Given the description of an element on the screen output the (x, y) to click on. 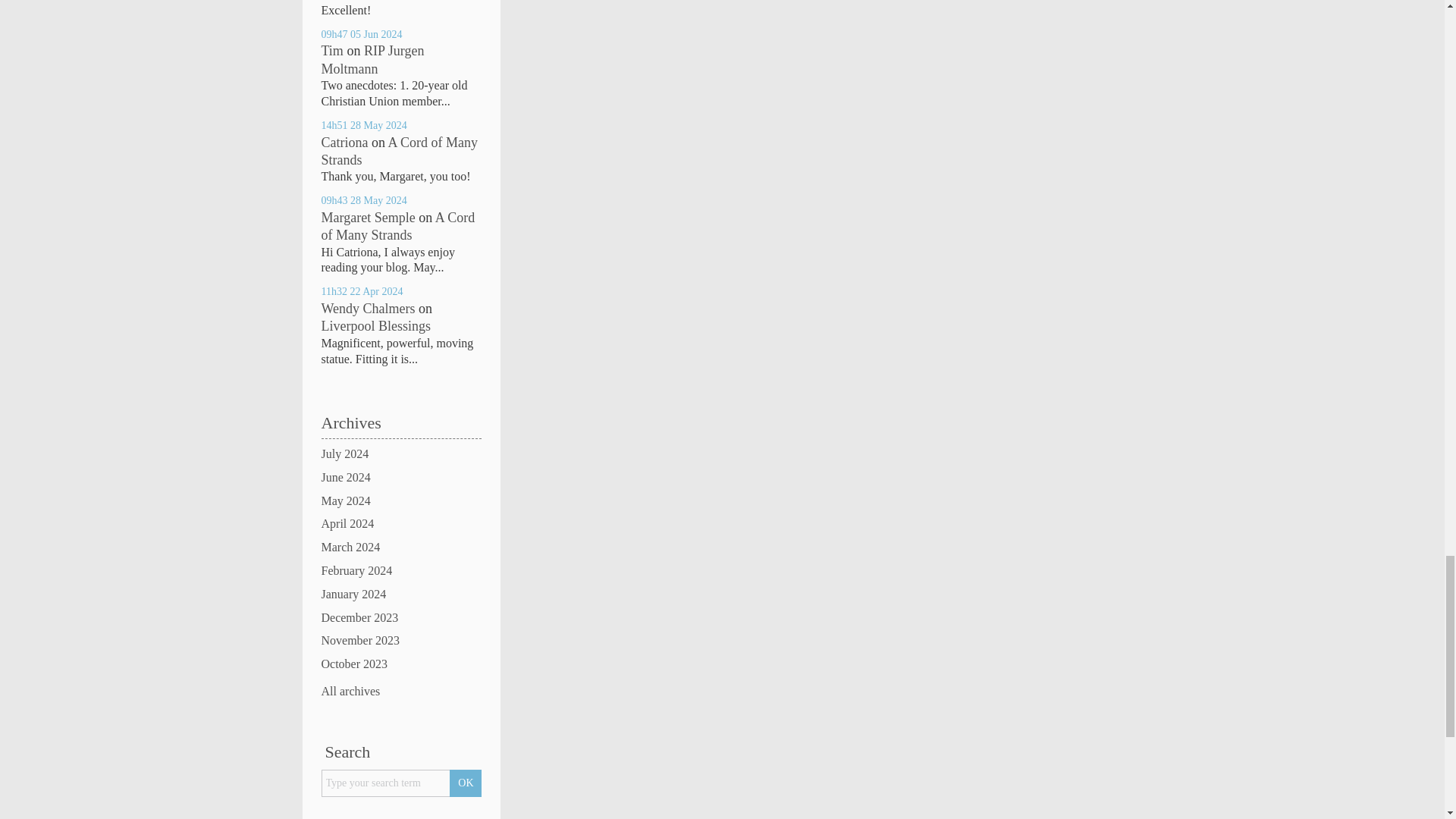
A Cord of Many Strands (398, 225)
Margaret Semple (367, 217)
OK (465, 782)
Wendy Chalmers (367, 308)
Catriona (344, 142)
A Cord of Many Strands (400, 151)
May 2024 (401, 501)
June 2024 (401, 478)
July 2024 (401, 454)
Tim (332, 50)
RIP Jurgen Moltmann (373, 59)
Liverpool Blessings (375, 325)
